Given the description of an element on the screen output the (x, y) to click on. 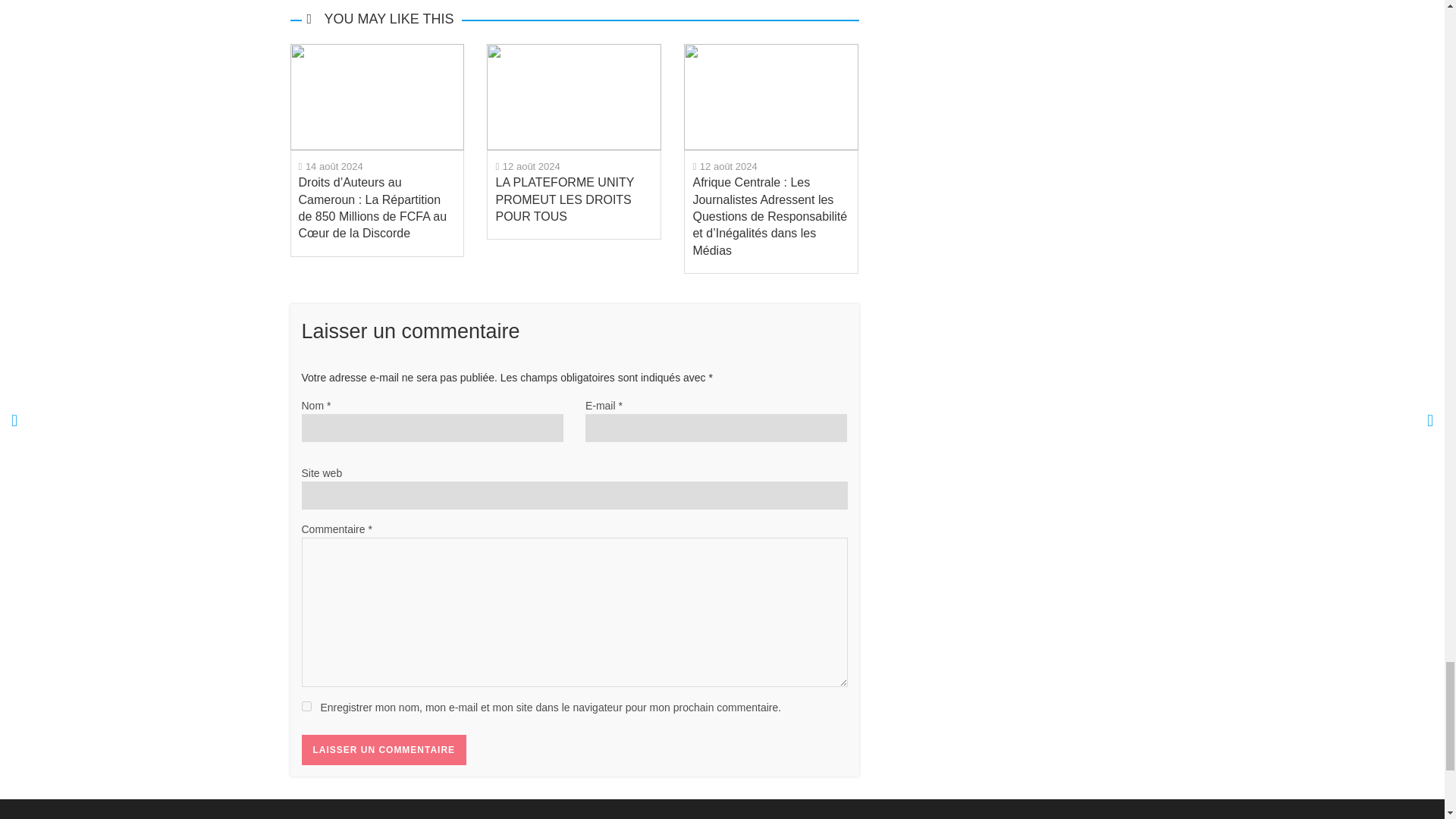
yes (306, 706)
LA PLATEFORME UNITY PROMEUT LES DROITS POUR TOUS (573, 96)
Laisser un commentaire (384, 749)
